Given the description of an element on the screen output the (x, y) to click on. 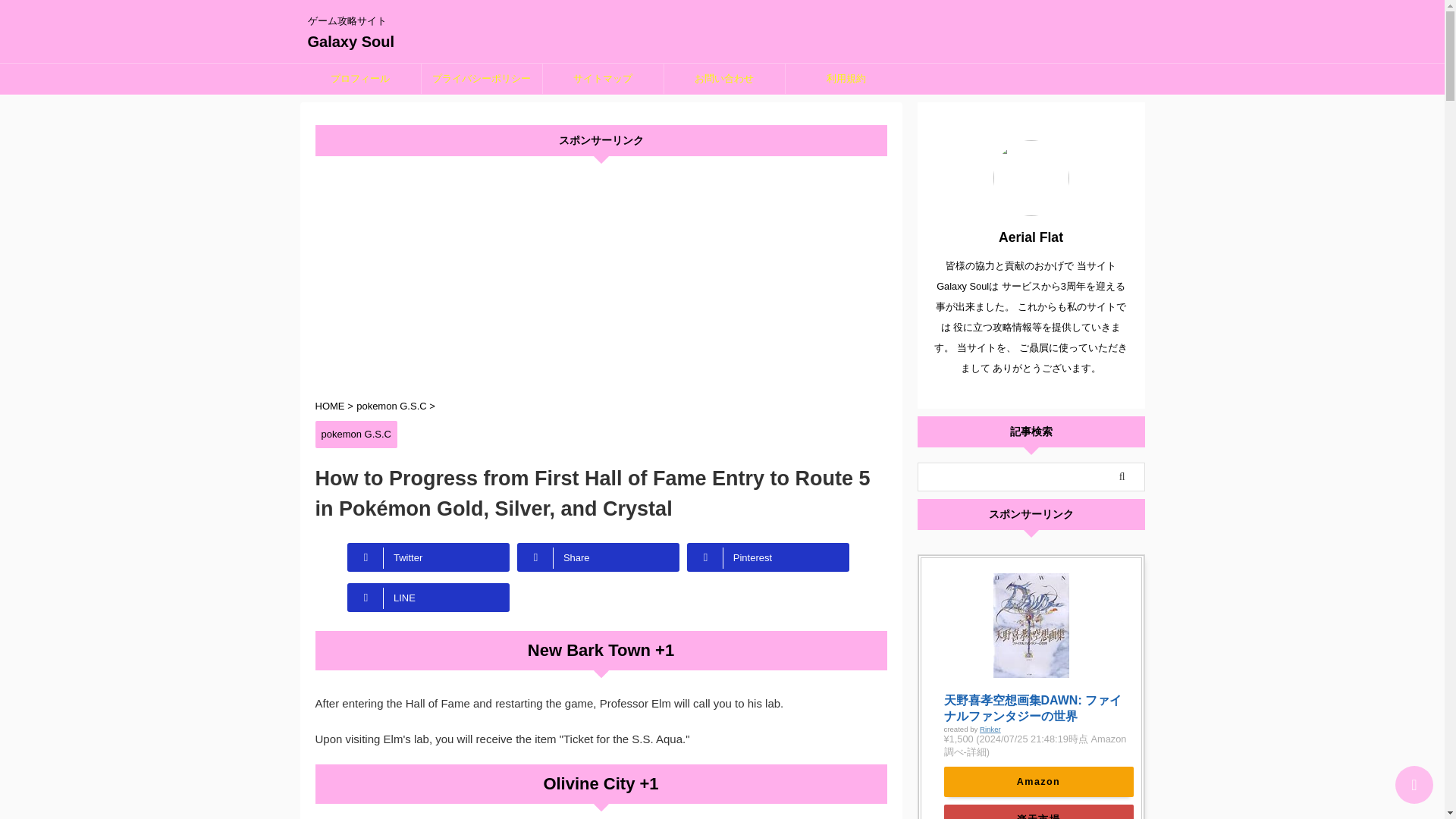
Advertisement (600, 277)
pokemon G.S.C (356, 434)
HOME (331, 405)
View all posts in pokemon G.S.C (356, 434)
Galaxy Soul (350, 41)
Twitter (428, 556)
Pinterest (767, 556)
LINE (428, 597)
Share (597, 556)
pokemon G.S.C (392, 405)
